Given the description of an element on the screen output the (x, y) to click on. 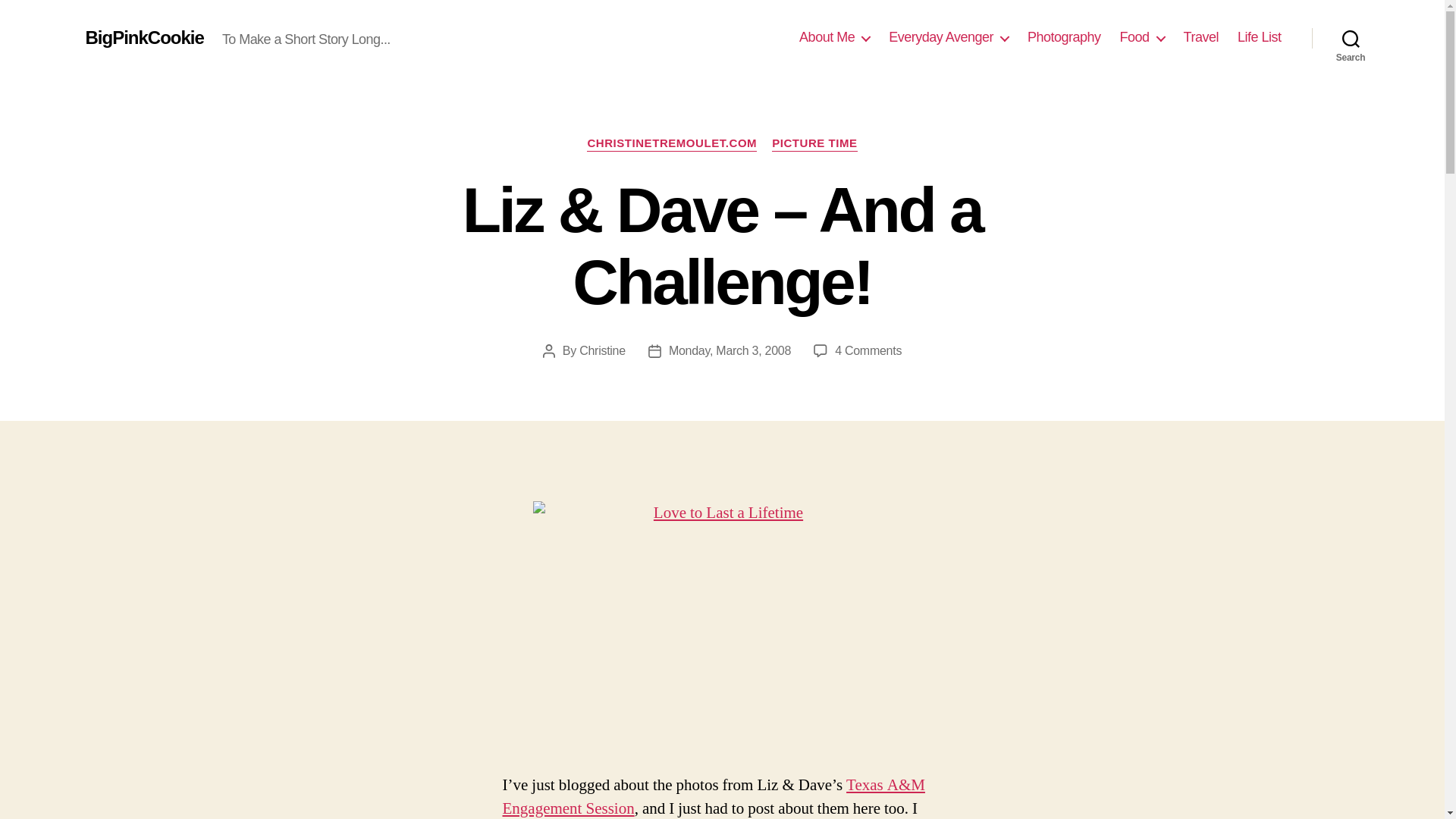
Everyday Avenger (948, 37)
Life List (1259, 37)
Travel (1200, 37)
BigPinkCookie (143, 37)
Food (1141, 37)
About Me (834, 37)
Photography (1063, 37)
Christine (602, 350)
PICTURE TIME (814, 143)
CHRISTINETREMOULET.COM (671, 143)
